Given the description of an element on the screen output the (x, y) to click on. 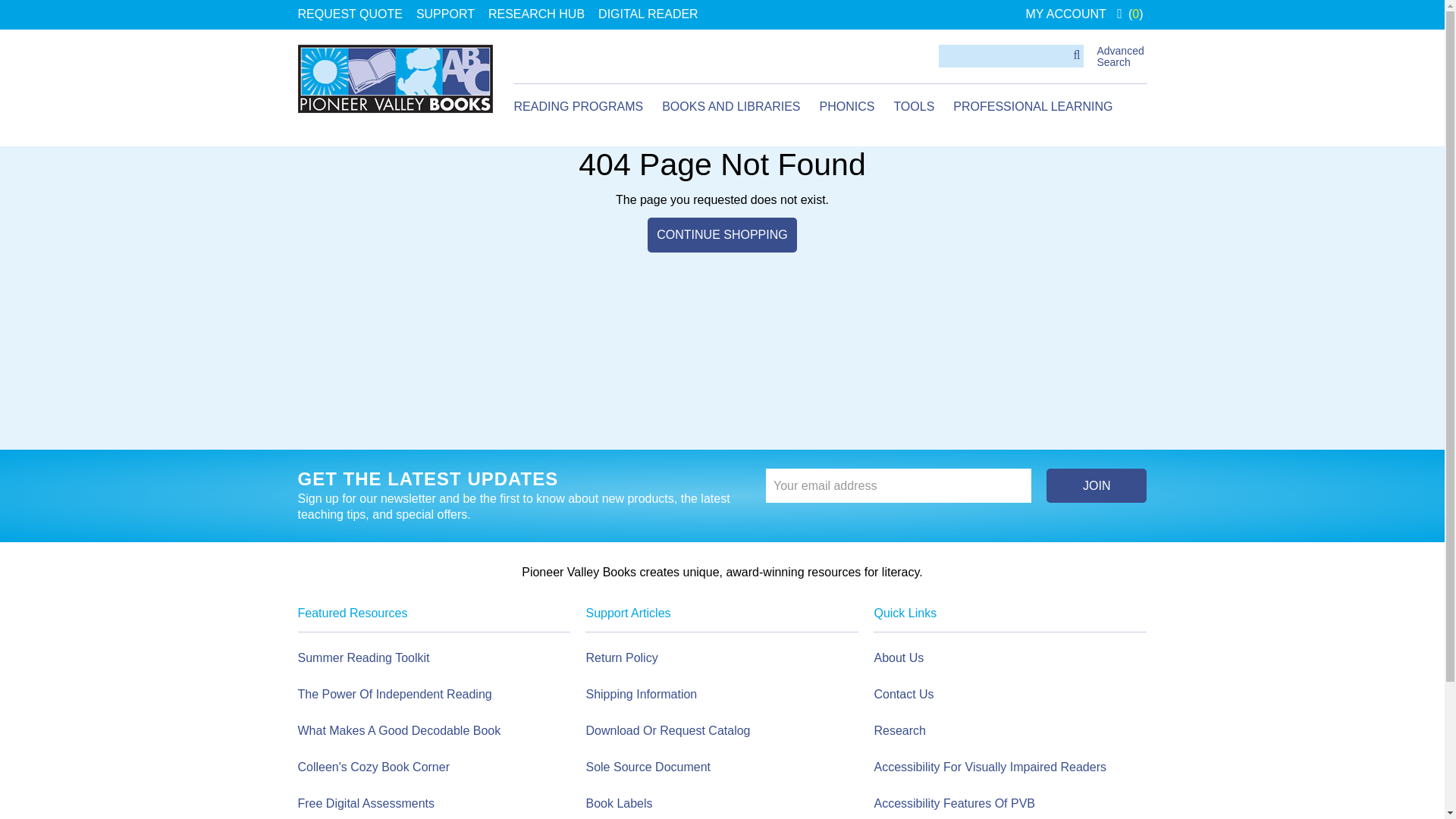
MY ACCOUNT (1065, 13)
READING PROGRAMS (578, 107)
Opens a widget where you can find more information (1387, 792)
BOOKS AND LIBRARIES (730, 107)
Advanced Search (1119, 56)
0 (1129, 13)
DIGITAL READER (648, 13)
RESEARCH HUB (536, 13)
SUPPORT (445, 13)
REQUEST QUOTE (349, 13)
PHONICS (846, 107)
